Given the description of an element on the screen output the (x, y) to click on. 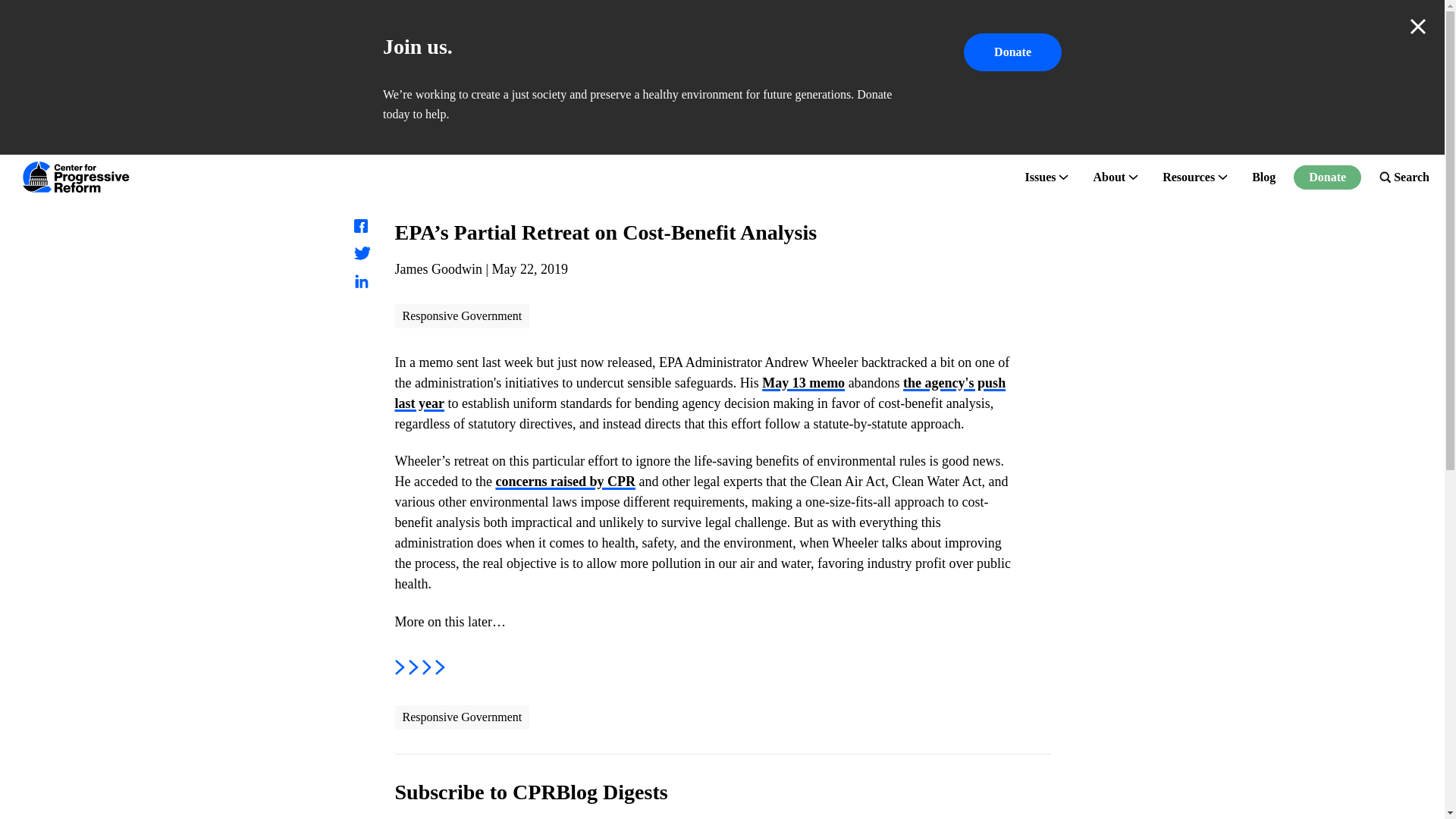
Issues (1041, 177)
Resources (1187, 177)
About (1109, 177)
Search (1403, 177)
Donate (1012, 52)
Close (1417, 26)
Blog (1263, 177)
Donate (1327, 177)
